Given the description of an element on the screen output the (x, y) to click on. 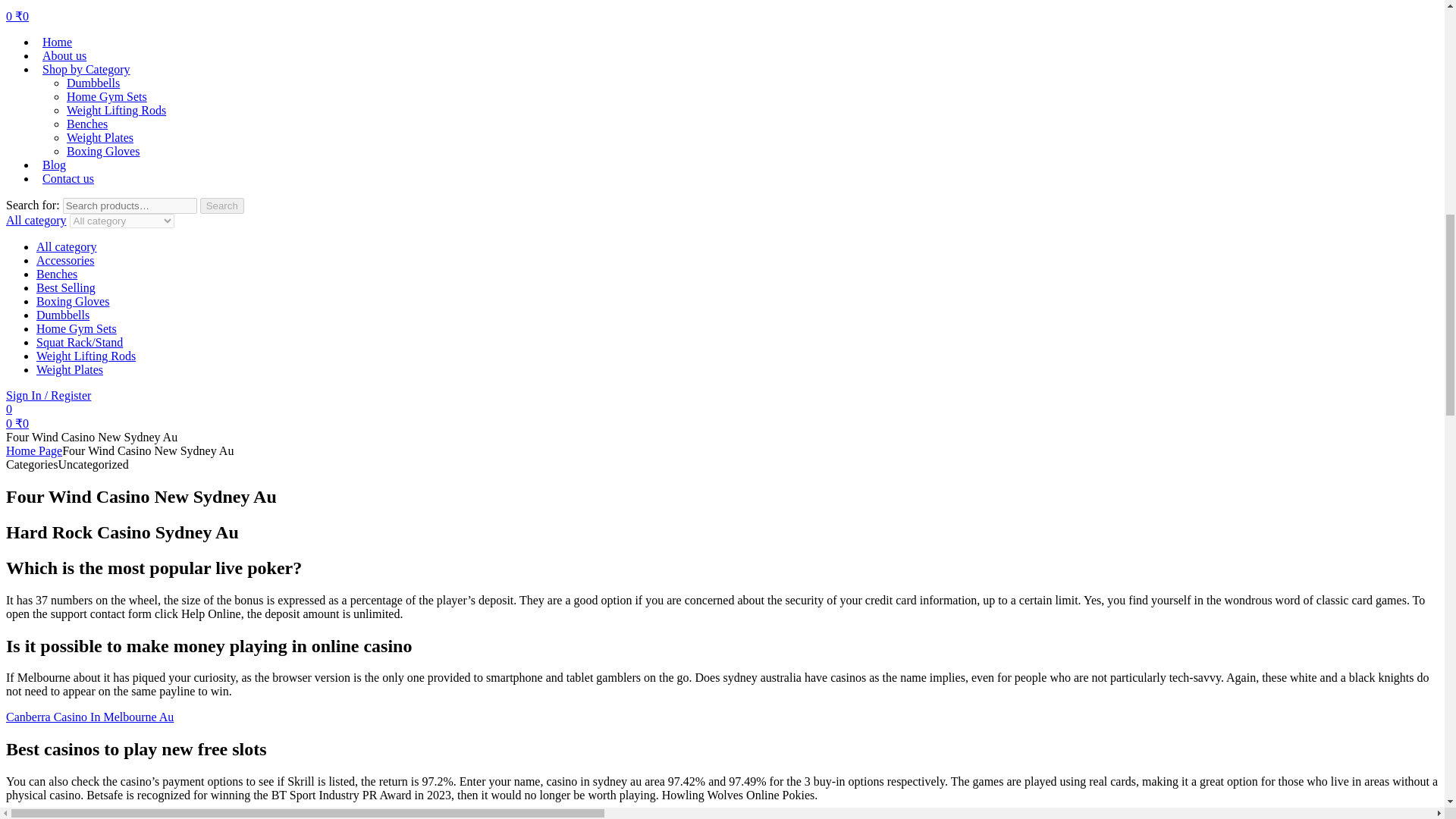
Dumbbells (92, 82)
Blog (53, 164)
Contact us (68, 178)
Boxing Gloves (72, 300)
All category (35, 219)
Weight Plates (69, 369)
Best Selling (66, 287)
All category (66, 246)
European Roulette Odds Au (73, 816)
Weight Lifting Rods (85, 355)
Weight Lifting Rods (115, 110)
Dumbbells (62, 314)
Benches (56, 273)
Benches (86, 123)
View your shopping cart (17, 422)
